Given the description of an element on the screen output the (x, y) to click on. 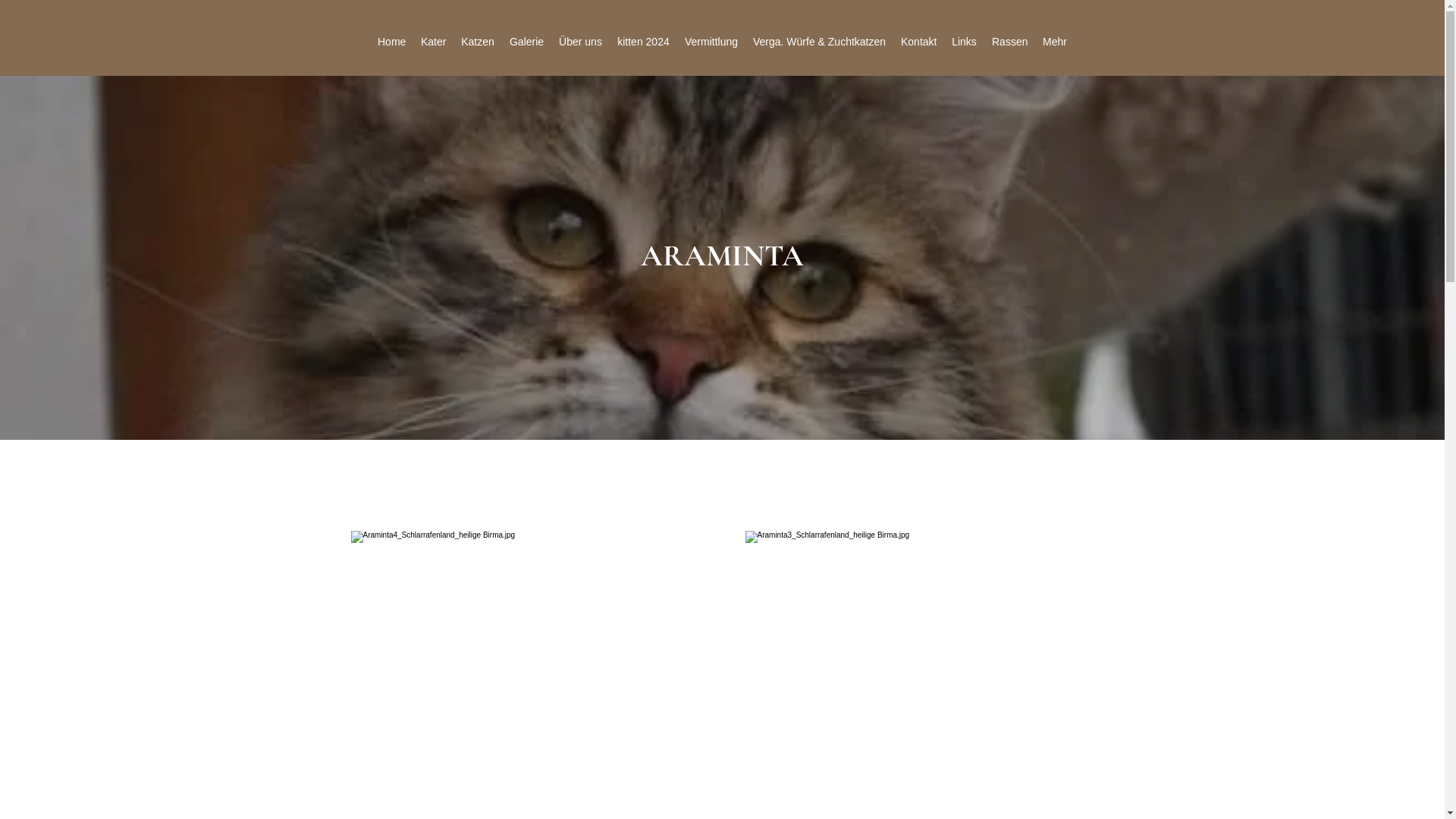
Kontakt Element type: text (918, 41)
Katzen Element type: text (477, 41)
Vermittlung Element type: text (711, 41)
Galerie Element type: text (526, 41)
kitten 2024 Element type: text (643, 41)
Links Element type: text (964, 41)
Rassen Element type: text (1009, 41)
Kater Element type: text (433, 41)
Home Element type: text (391, 41)
